Given the description of an element on the screen output the (x, y) to click on. 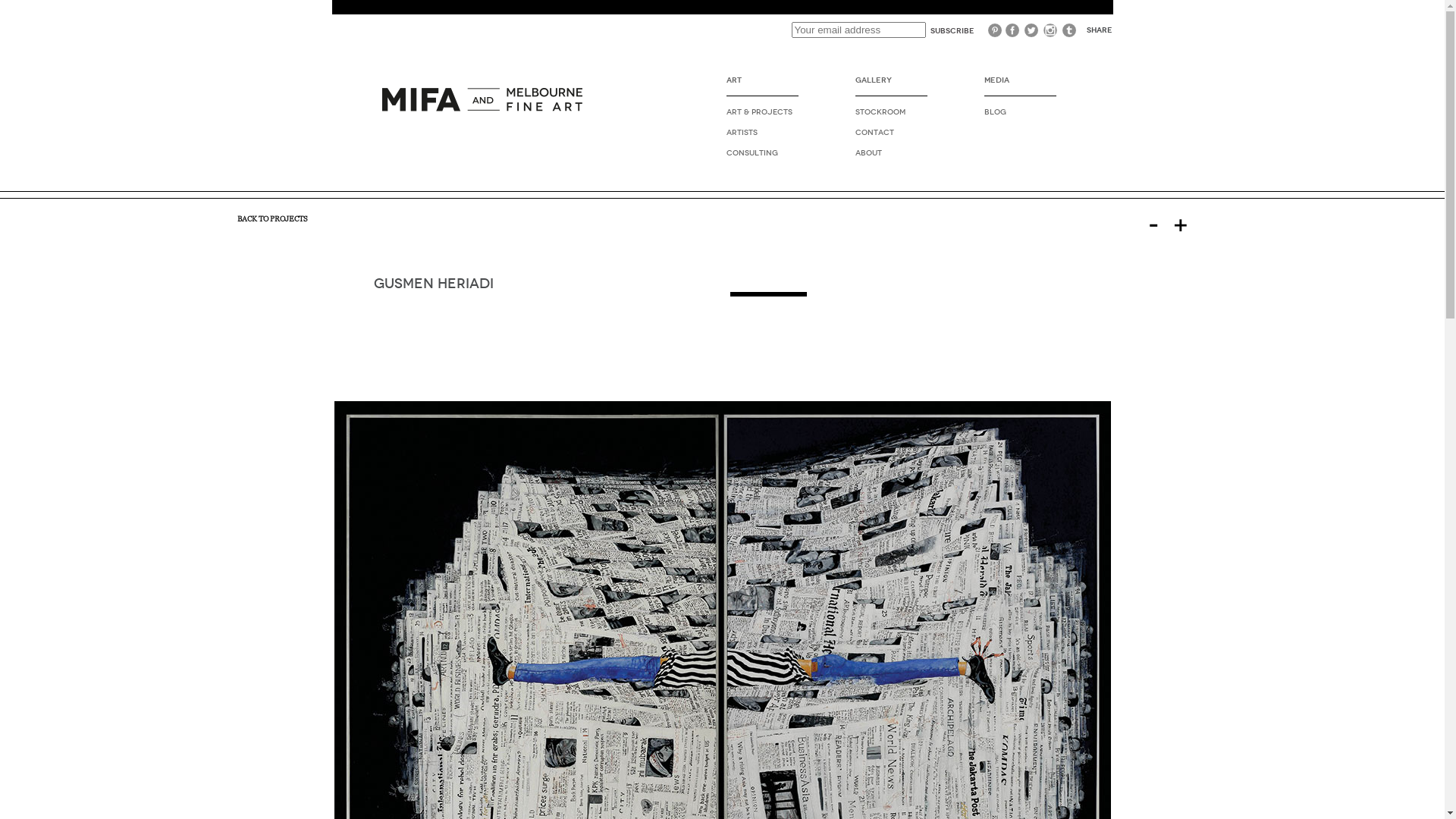
Subscribe Element type: text (951, 30)
Instagram Element type: text (1050, 30)
ABOUT Element type: text (891, 152)
STOCKROOM Element type: text (891, 111)
+ Element type: text (1185, 223)
Tumblr Element type: text (1068, 30)
ART & PROJECTS Element type: text (762, 111)
GALLERY Element type: text (891, 85)
CONTACT Element type: text (891, 132)
BACK TO PROJECTS Element type: text (271, 218)
- Element type: text (1159, 223)
Facebook Element type: text (1012, 30)
PLUG2STUDIO Element type: text (484, 111)
CONSULTING Element type: text (762, 152)
ART Element type: text (762, 85)
Twitter Element type: text (1030, 30)
ARTISTS Element type: text (762, 132)
BLOG Element type: text (1020, 111)
MEDIA Element type: text (1020, 85)
Pinterest Element type: text (993, 30)
